Given the description of an element on the screen output the (x, y) to click on. 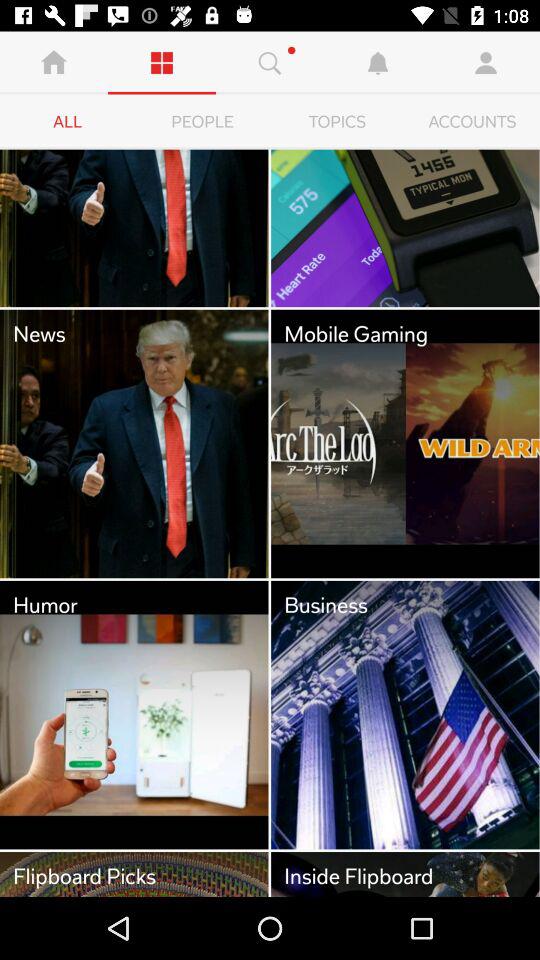
launch item to the left of people icon (67, 121)
